Given the description of an element on the screen output the (x, y) to click on. 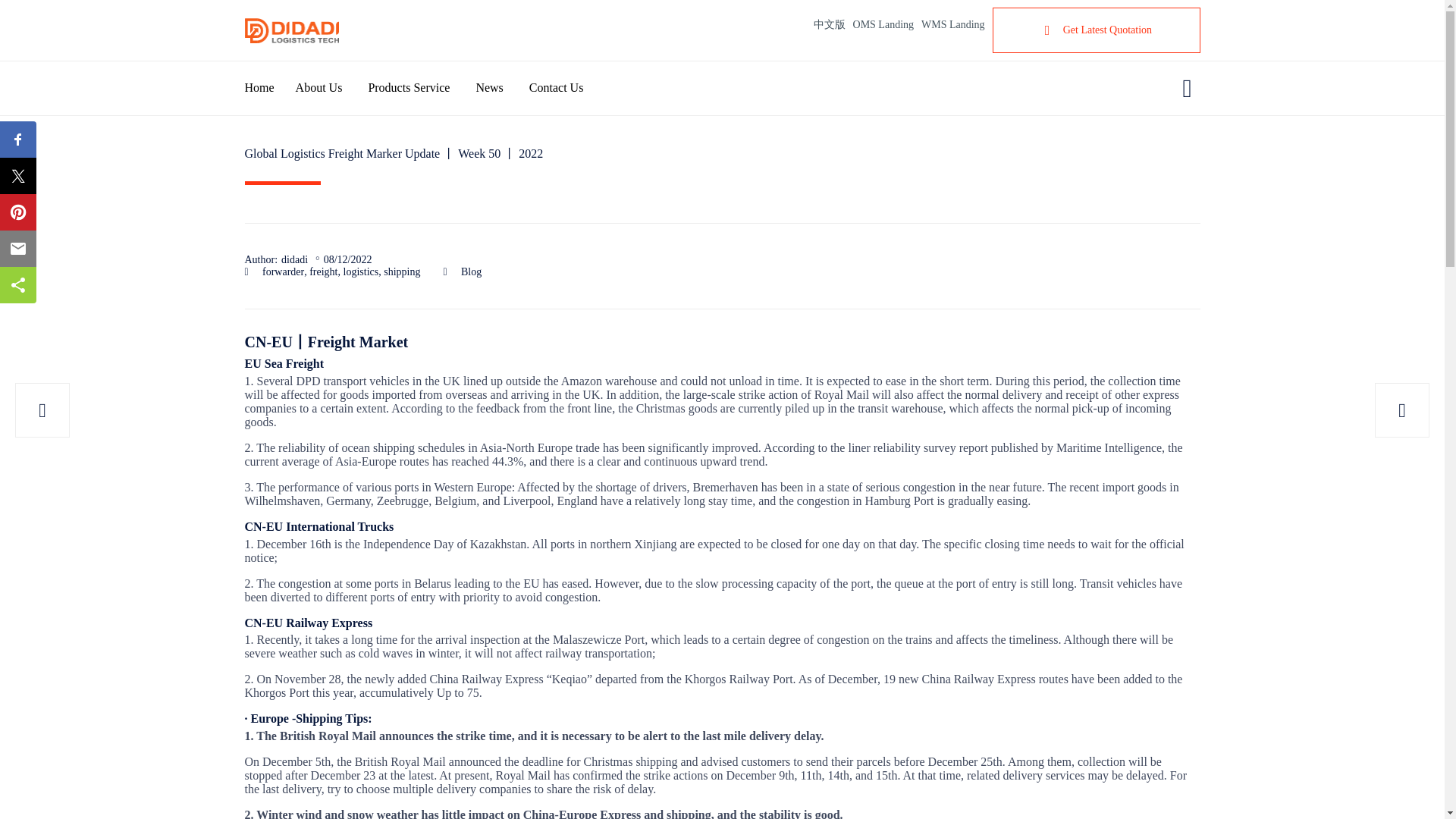
Contact Us (567, 87)
WMS Landing (949, 24)
Products Service (422, 87)
Blog (471, 272)
DIDADI Logistics Tech (291, 30)
forwarder (283, 272)
shipping (402, 272)
didadi (294, 259)
